Given the description of an element on the screen output the (x, y) to click on. 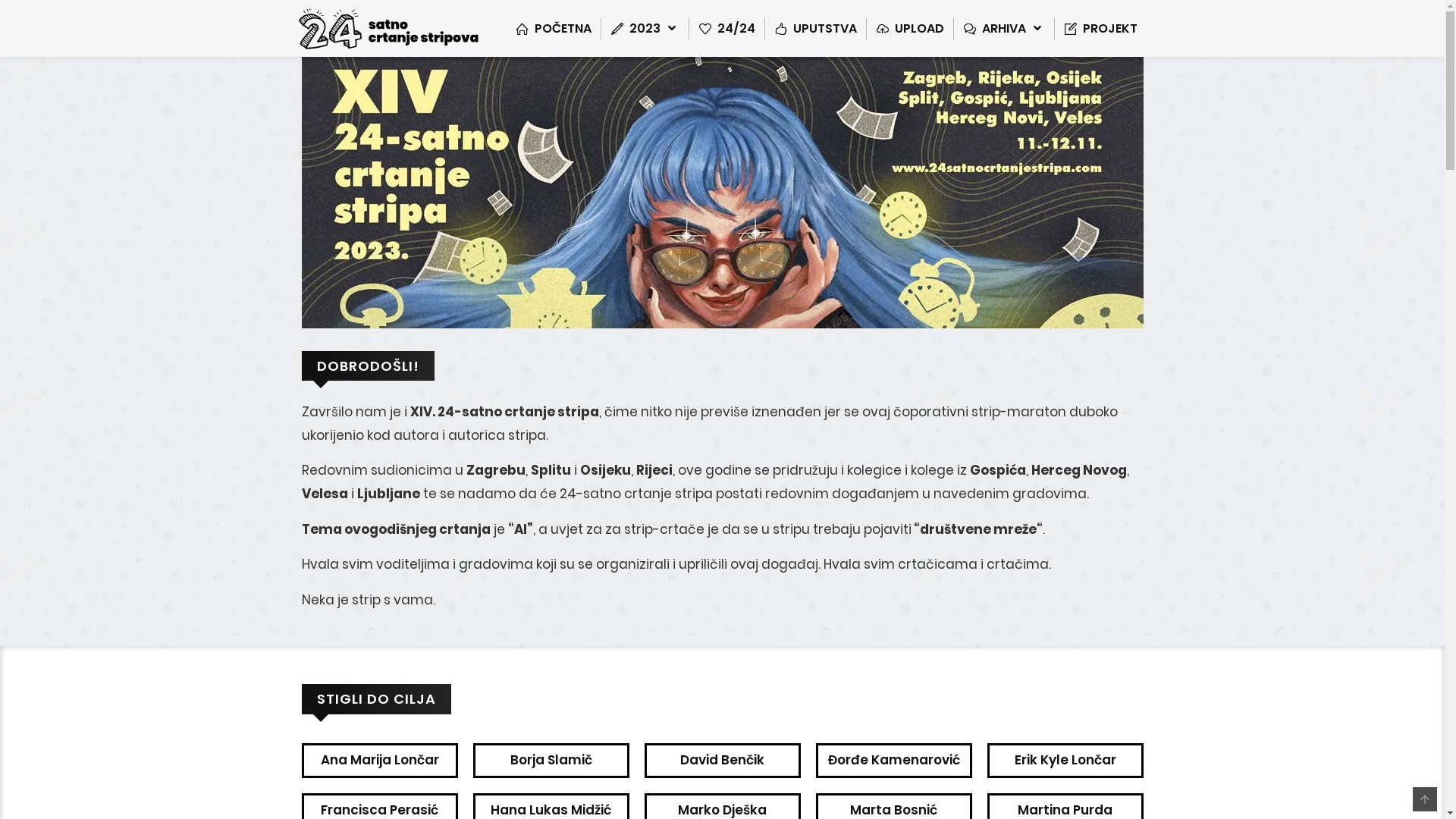
ARHIVA Element type: text (1003, 27)
UPUTSTVA Element type: text (815, 27)
2023 Element type: text (645, 27)
UPLOAD Element type: text (910, 27)
24/24 Element type: text (727, 27)
PROJEKT Element type: text (1100, 27)
